Given the description of an element on the screen output the (x, y) to click on. 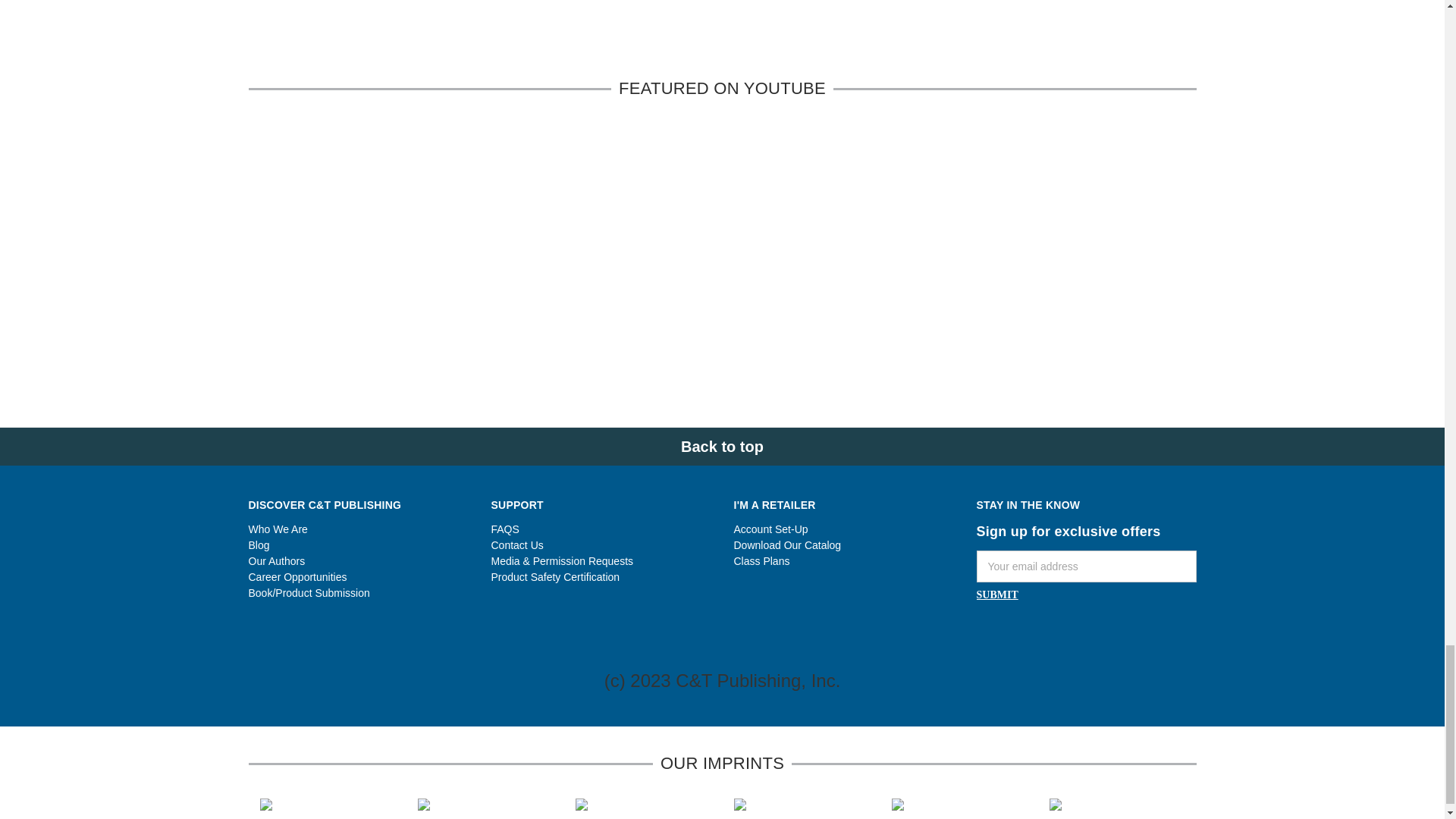
Email (693, 37)
Twitter (746, 37)
Instagram (1011, 634)
Print (720, 37)
Youtube (1066, 634)
Facebook (984, 634)
Twitter (1092, 634)
Facebook (667, 37)
Submit (996, 594)
Pinterest (775, 37)
